Given the description of an element on the screen output the (x, y) to click on. 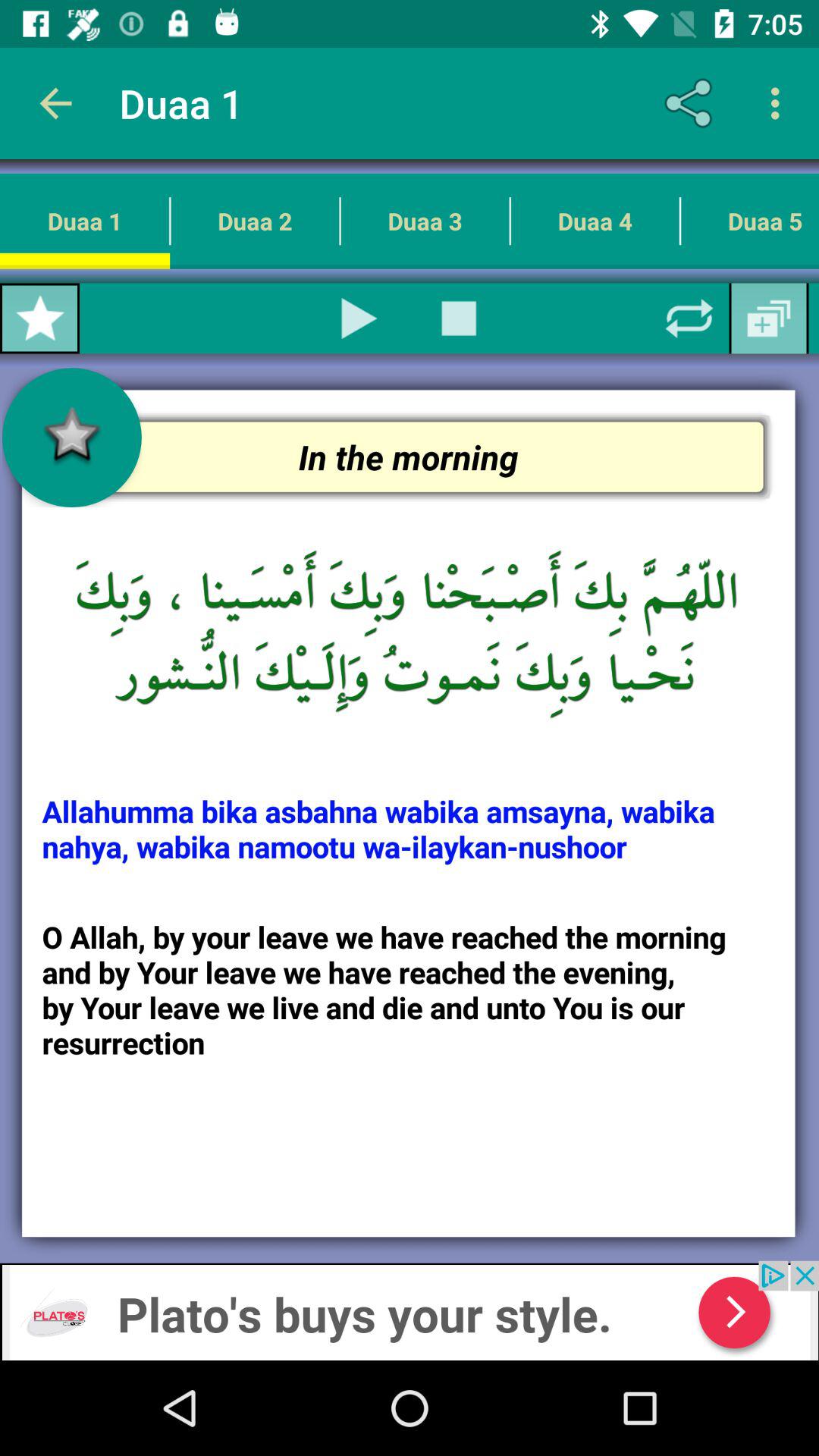
click duaa 2 item (255, 221)
